Given the description of an element on the screen output the (x, y) to click on. 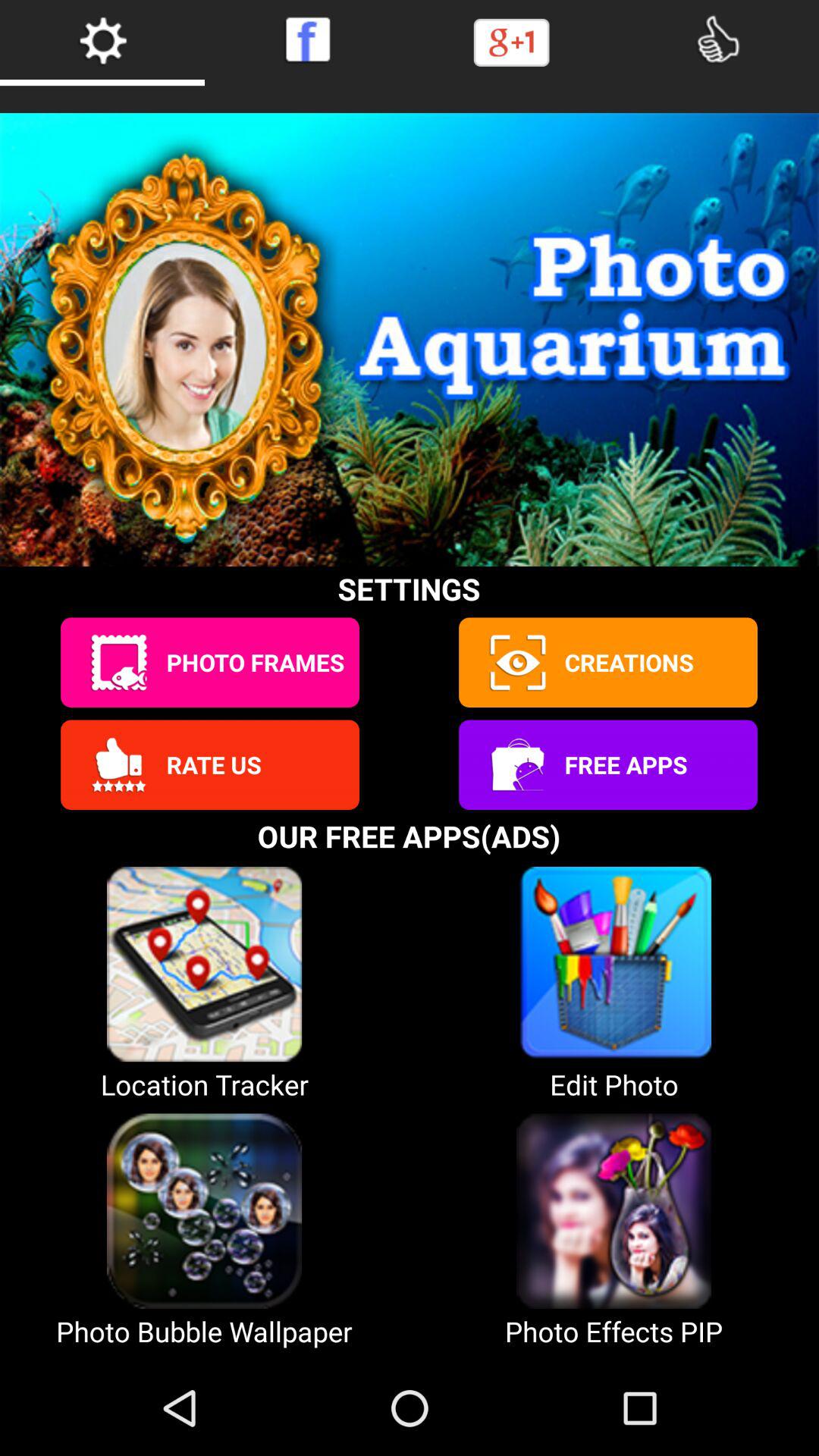
like (716, 39)
